Given the description of an element on the screen output the (x, y) to click on. 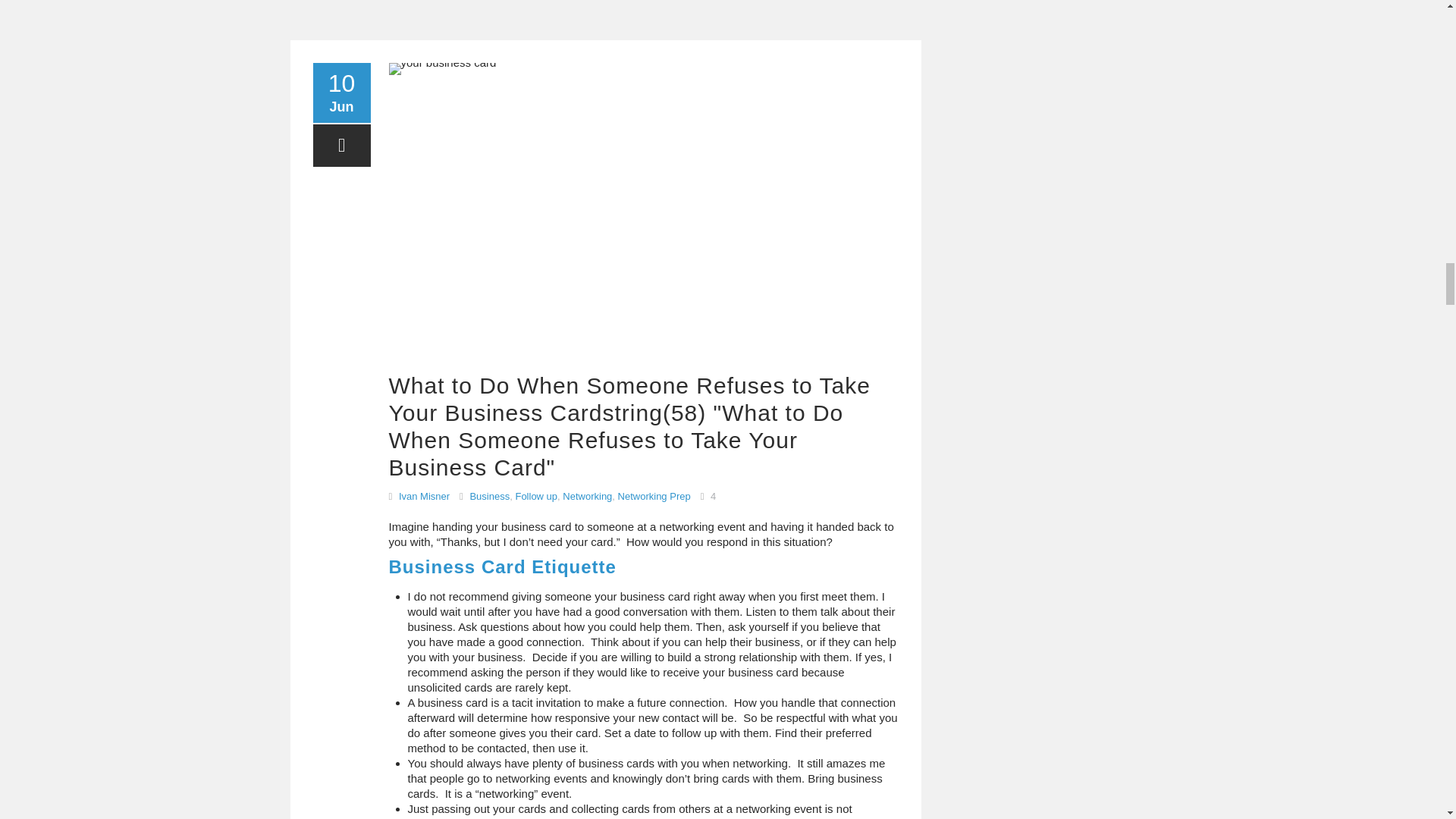
View all posts by Ivan Misner (423, 496)
Follow up (536, 496)
Networking (586, 496)
Business (488, 496)
Ivan Misner (423, 496)
